Given the description of an element on the screen output the (x, y) to click on. 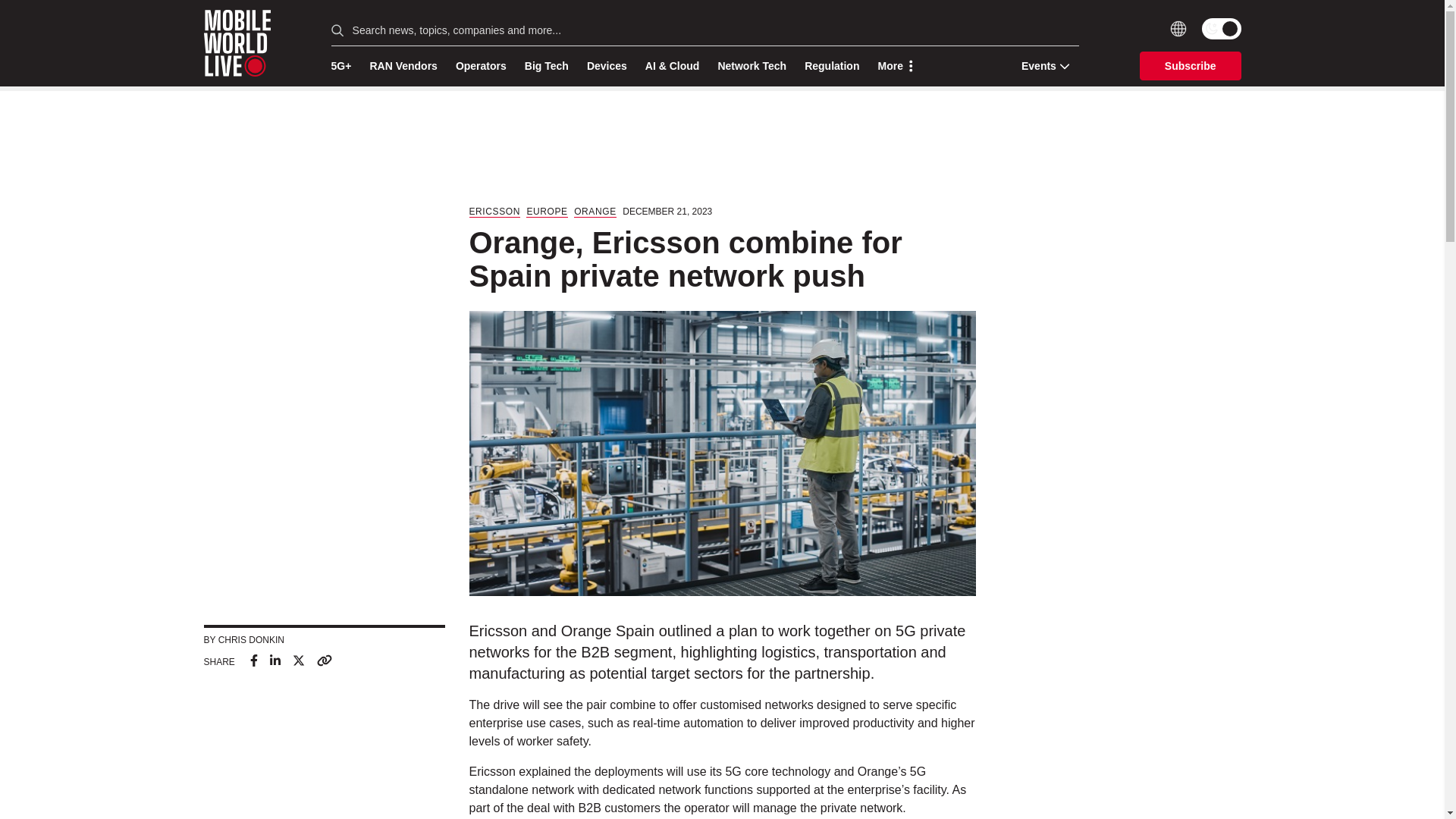
Events (1040, 65)
Network Tech (751, 65)
Devices (606, 65)
RAN Vendors (402, 65)
Big Tech (546, 65)
Regulation (832, 65)
Subscribe (1190, 65)
Operators (480, 65)
